Given the description of an element on the screen output the (x, y) to click on. 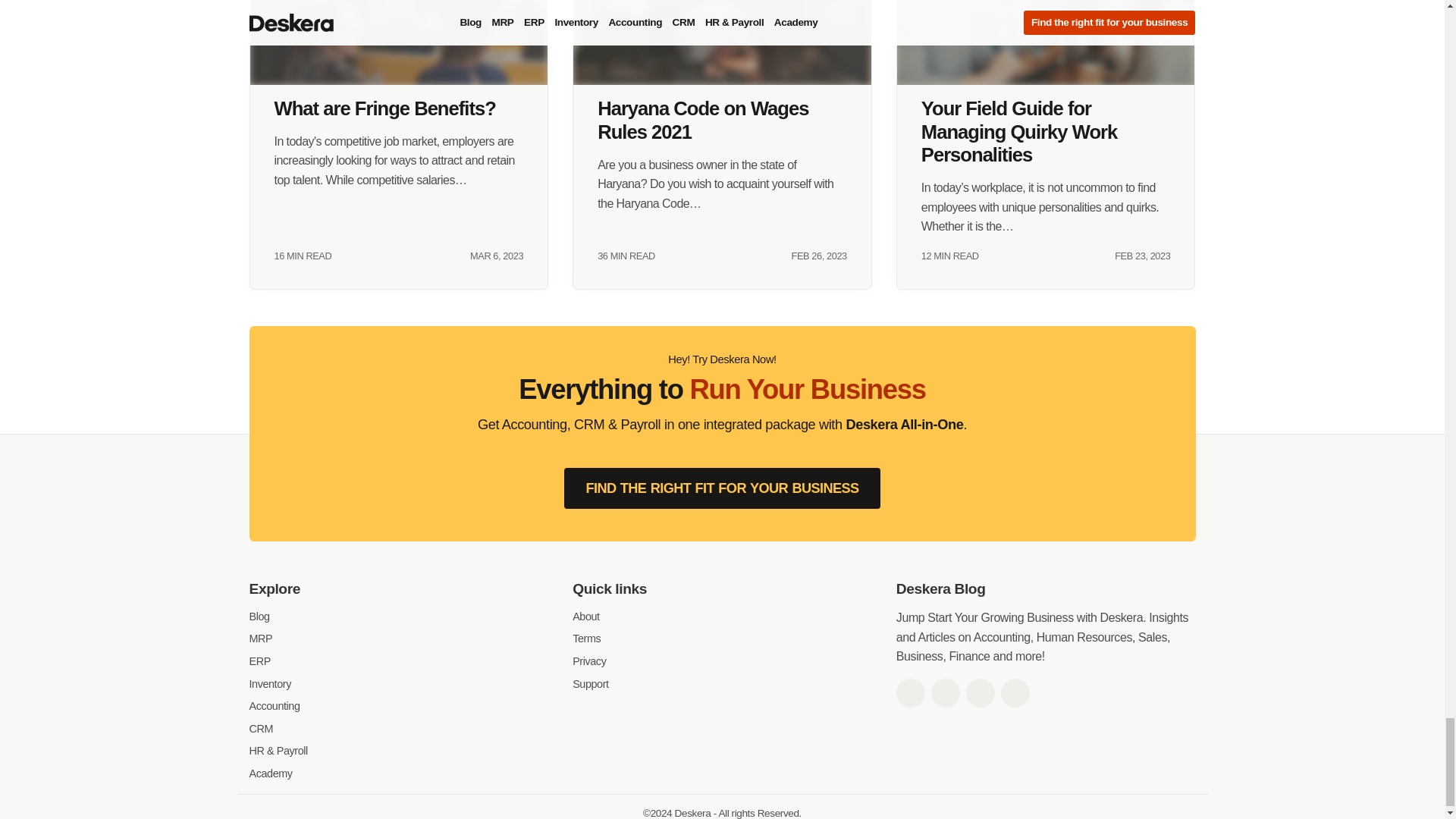
Haryana Code on Wages Rules 2021 (721, 42)
Deskera YouTube (1015, 692)
Your Field Guide for Managing Quirky Work Personalities (1045, 42)
Facebook (910, 692)
What are Fringe Benefits? (399, 42)
Deskera Linkedin (980, 692)
Twitter (945, 692)
